Given the description of an element on the screen output the (x, y) to click on. 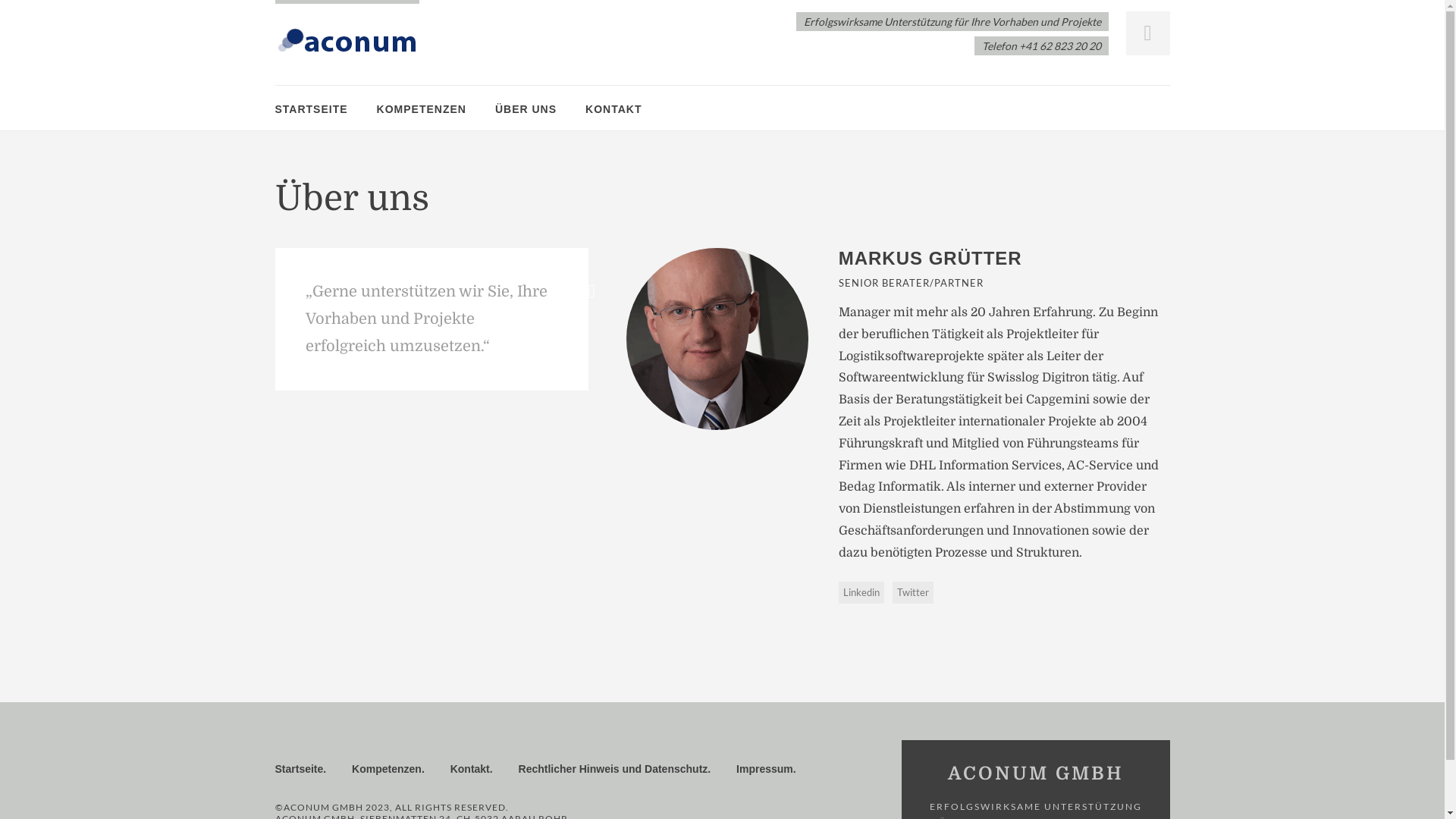
Rechtlicher Hinweis und Datenschutz Element type: text (613, 768)
Linkedin Element type: text (861, 592)
KONTAKT Element type: text (613, 109)
Startseite Element type: text (298, 768)
STARTSEITE Element type: text (310, 109)
KOMPETENZEN Element type: text (421, 109)
Twitter Element type: text (912, 592)
Kompetenzen Element type: text (386, 768)
Kontakt Element type: text (469, 768)
Suche Element type: text (31, 13)
Aconum GmbH Element type: hover (346, 42)
Impressum Element type: text (764, 768)
